Given the description of an element on the screen output the (x, y) to click on. 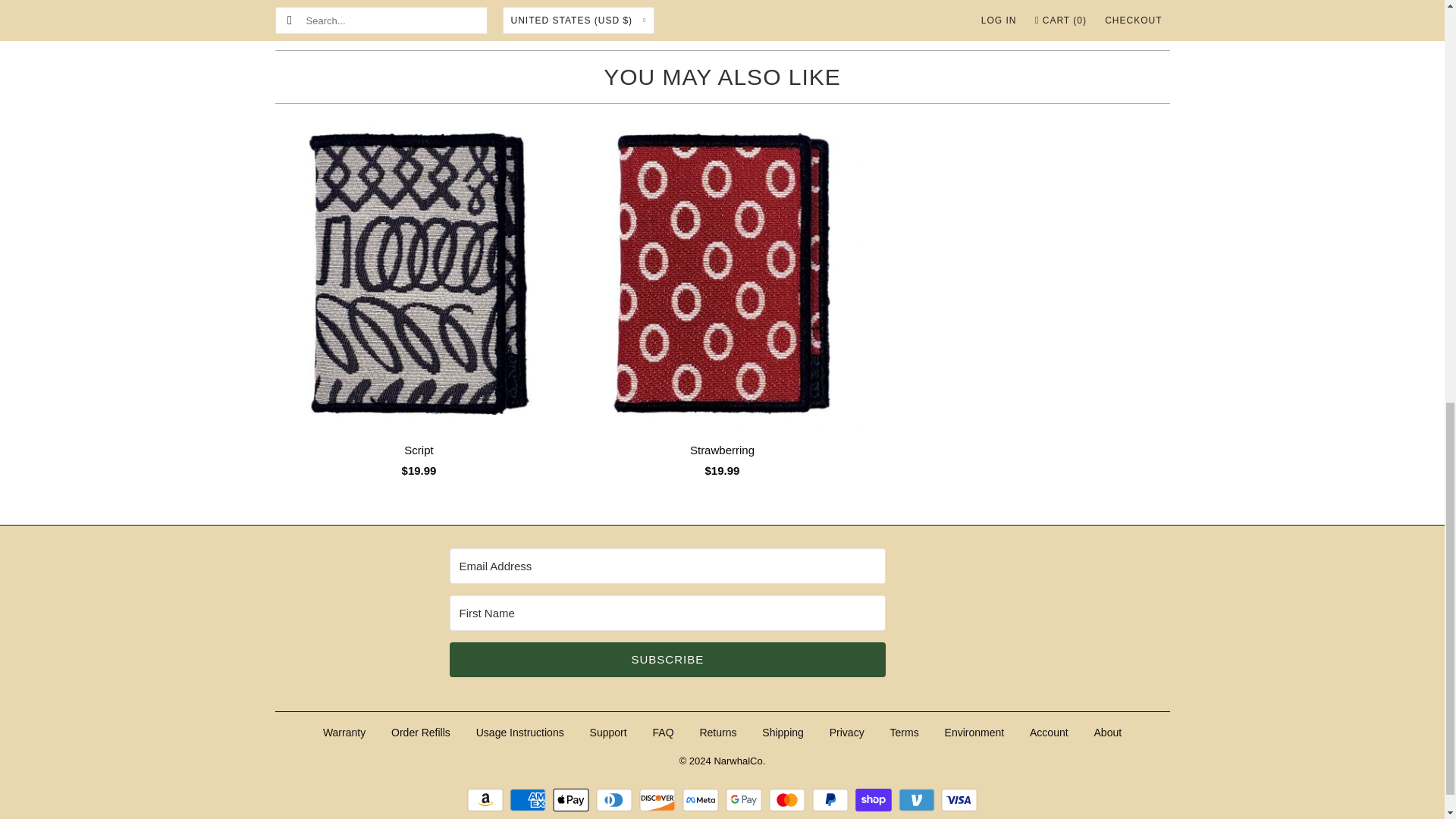
Discover (659, 799)
Diners Club (615, 799)
Google Pay (745, 799)
Mastercard (788, 799)
Amazon (486, 799)
Apple Pay (572, 799)
Shop Pay (875, 799)
Venmo (917, 799)
Visa (958, 799)
PayPal (831, 799)
